Given the description of an element on the screen output the (x, y) to click on. 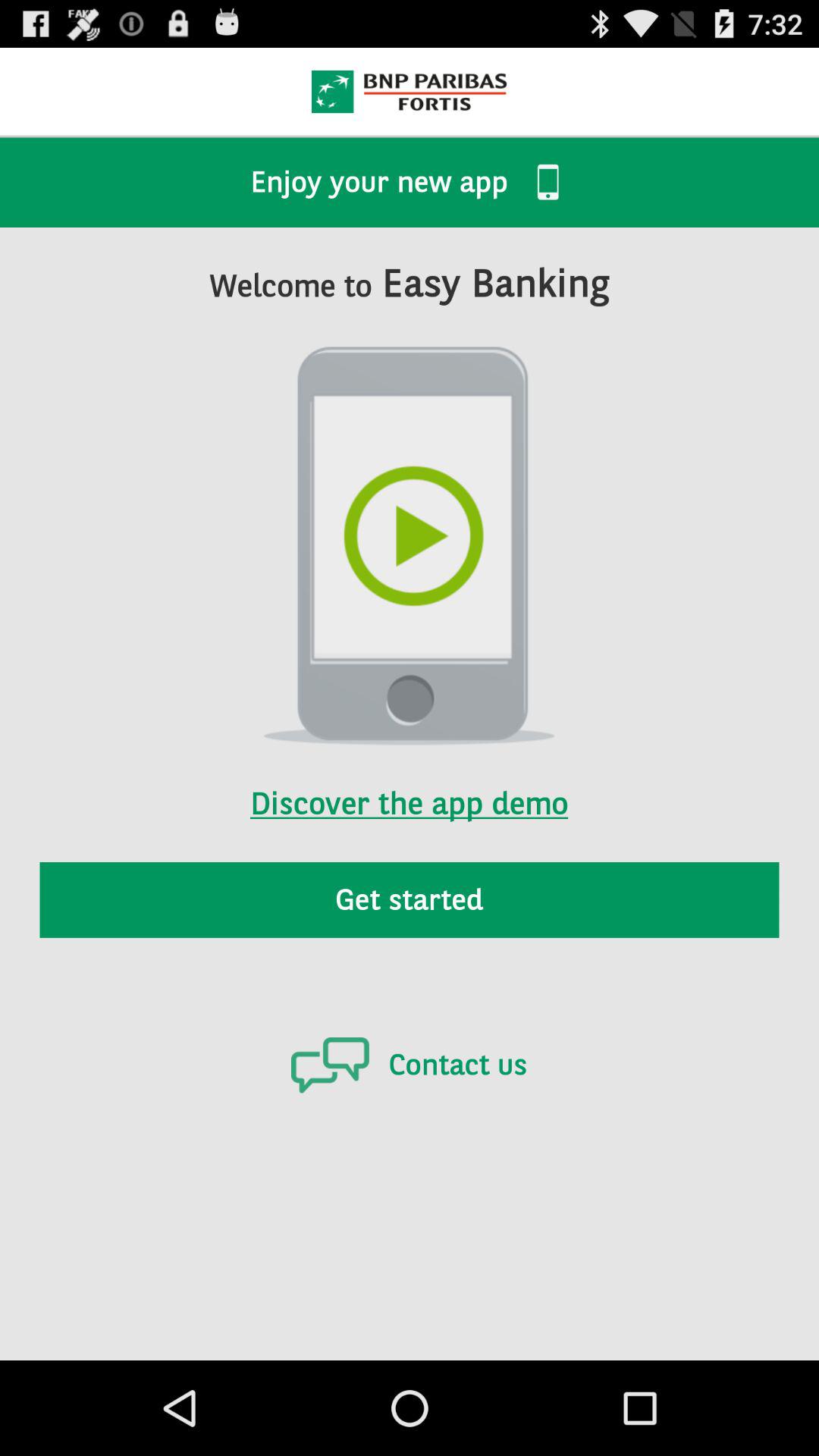
select item above contact us item (409, 899)
